Given the description of an element on the screen output the (x, y) to click on. 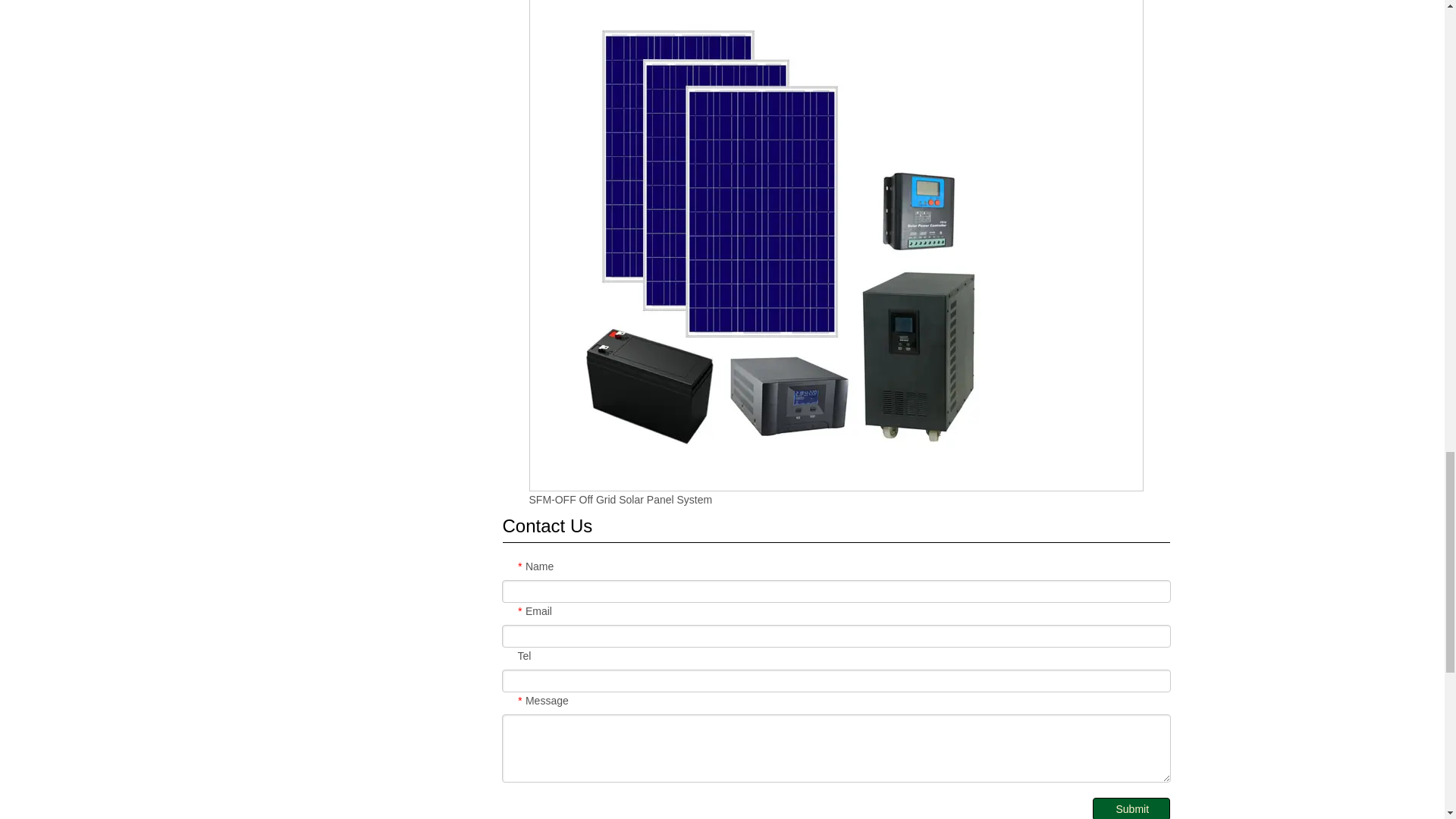
SFM-OFF Off Grid Solar Panel System (621, 499)
